Given the description of an element on the screen output the (x, y) to click on. 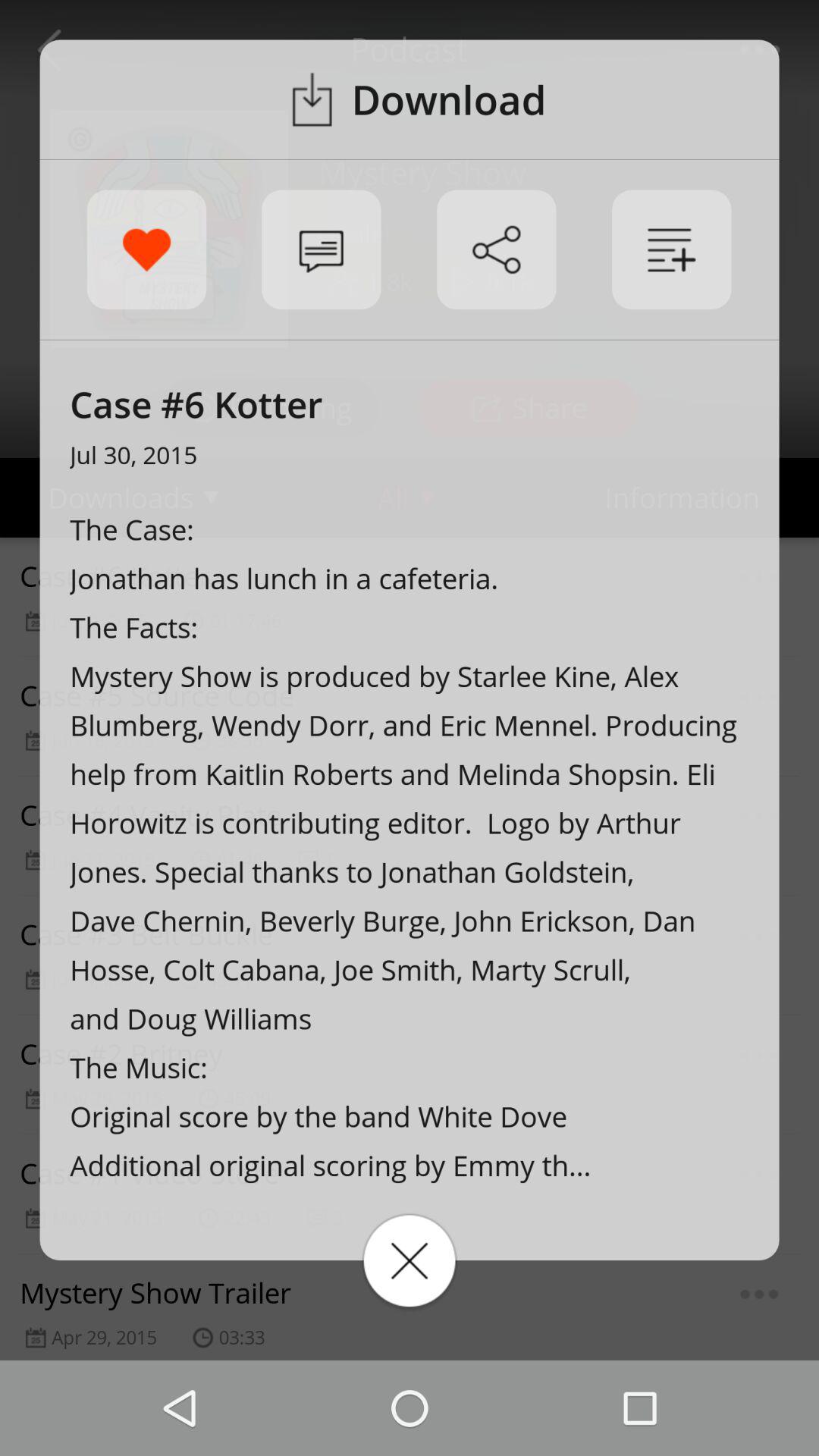
add notes (671, 249)
